Given the description of an element on the screen output the (x, y) to click on. 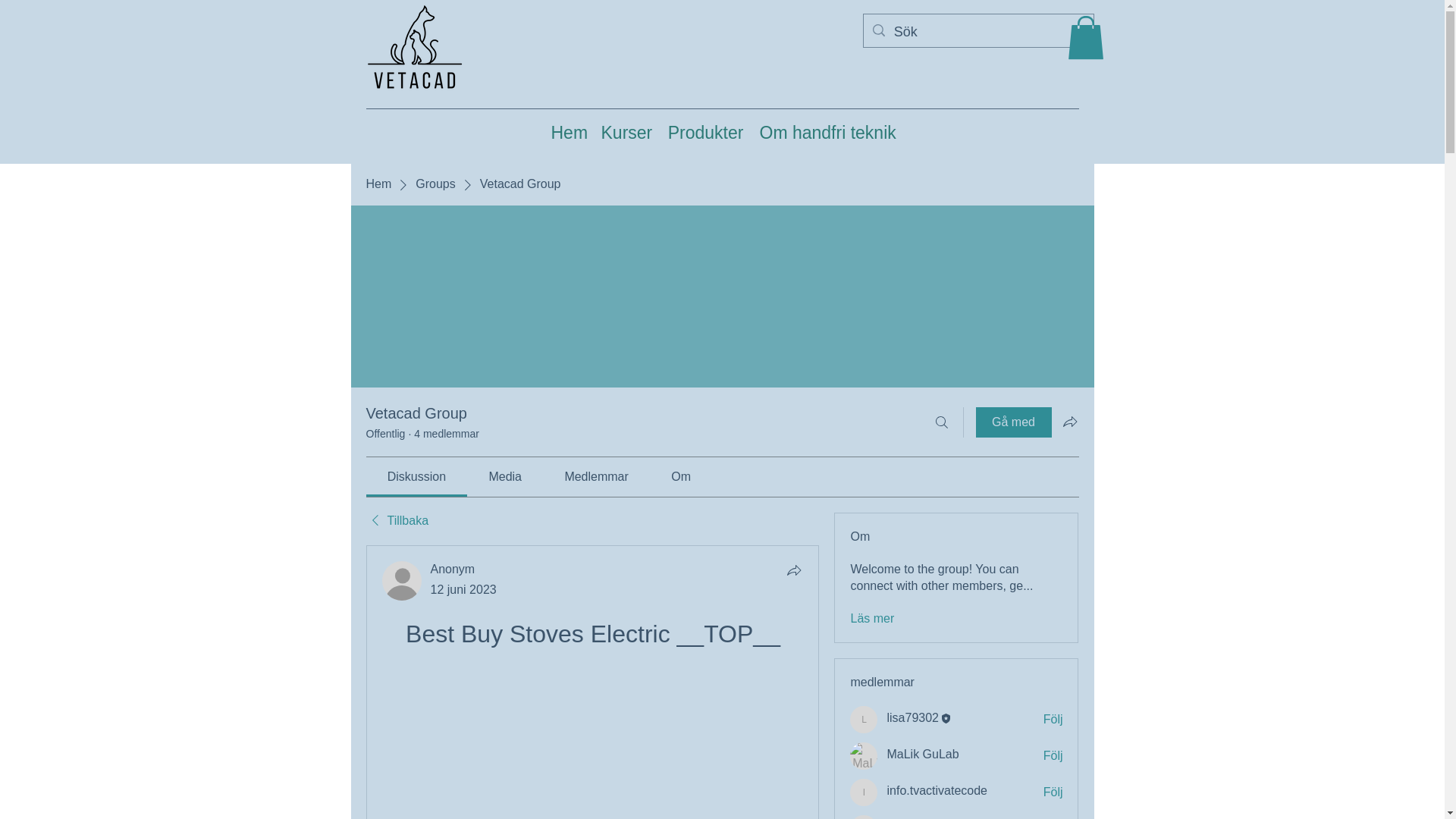
lisa79302 (863, 719)
Anonym (453, 568)
Produkter (705, 129)
Hem (378, 184)
Kurser (625, 129)
MaLik GuLab (922, 754)
12 juni 2023 (463, 589)
Anonym (401, 580)
MaLik GuLab (922, 754)
lisa79302 (912, 718)
